Given the description of an element on the screen output the (x, y) to click on. 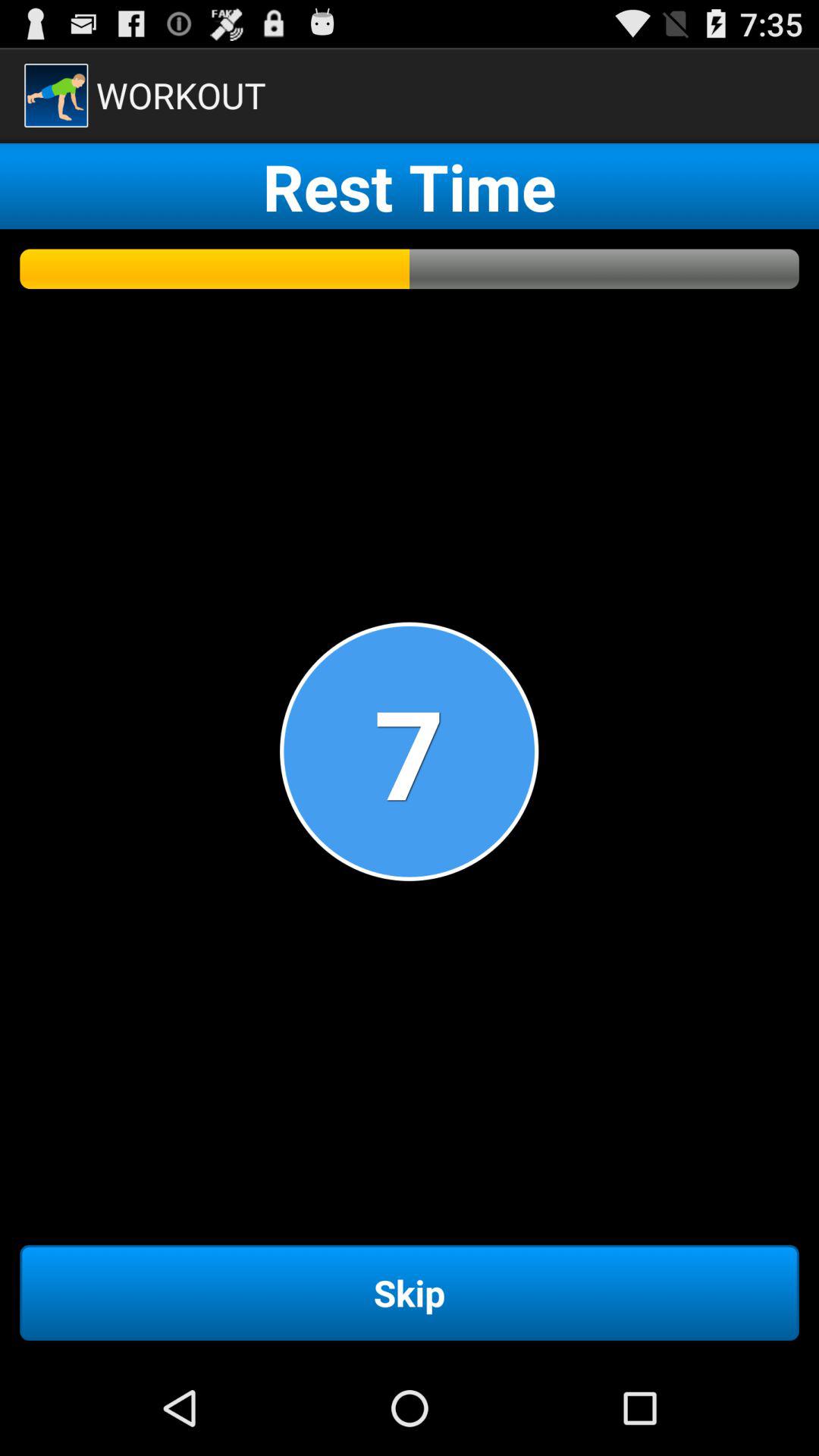
turn off the icon at the bottom (409, 1292)
